Given the description of an element on the screen output the (x, y) to click on. 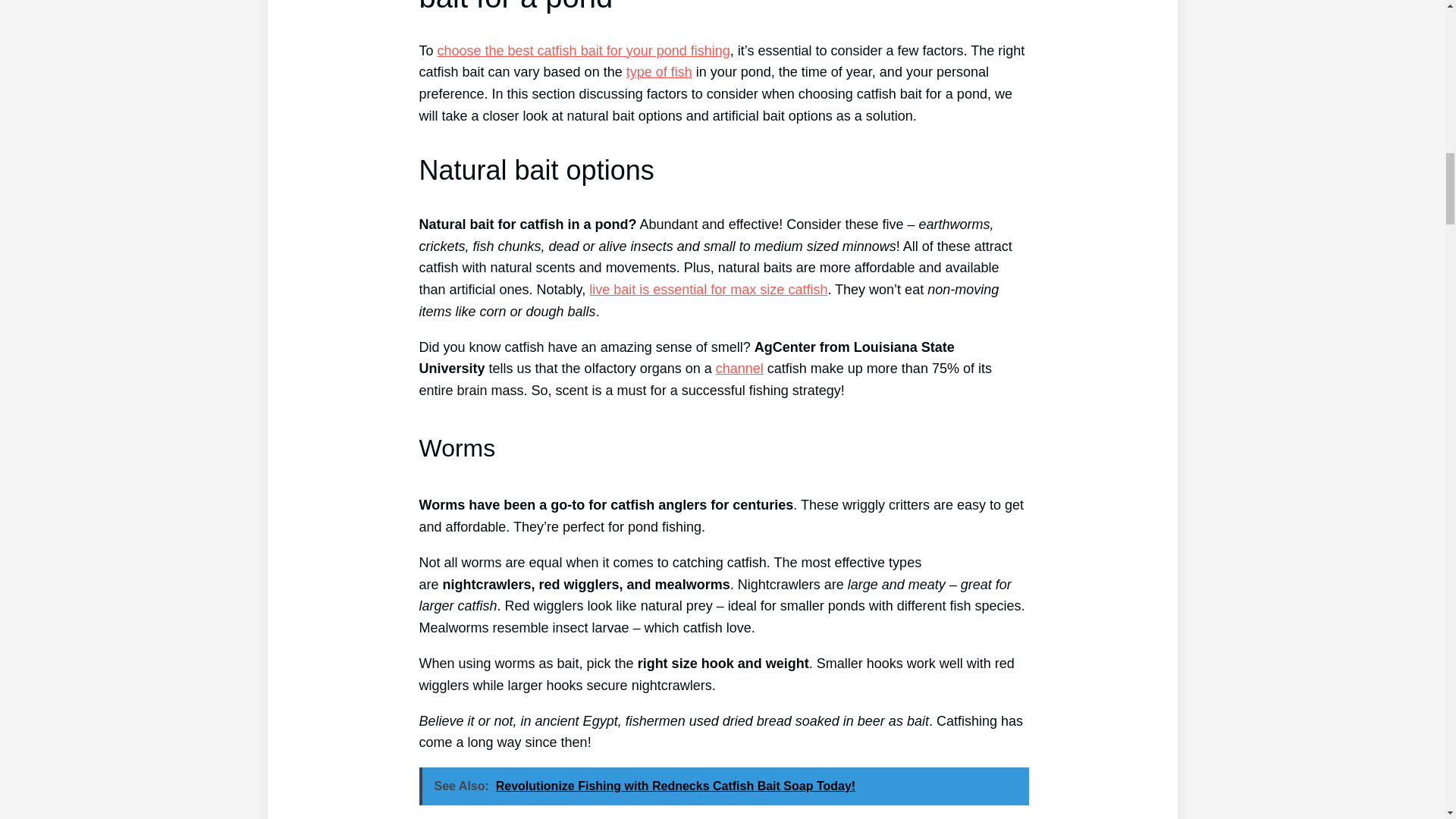
type of fish (659, 71)
choose the best catfish bait for your pond fishing (584, 50)
channel (739, 368)
live bait is essential for max size catfish (708, 289)
